Given the description of an element on the screen output the (x, y) to click on. 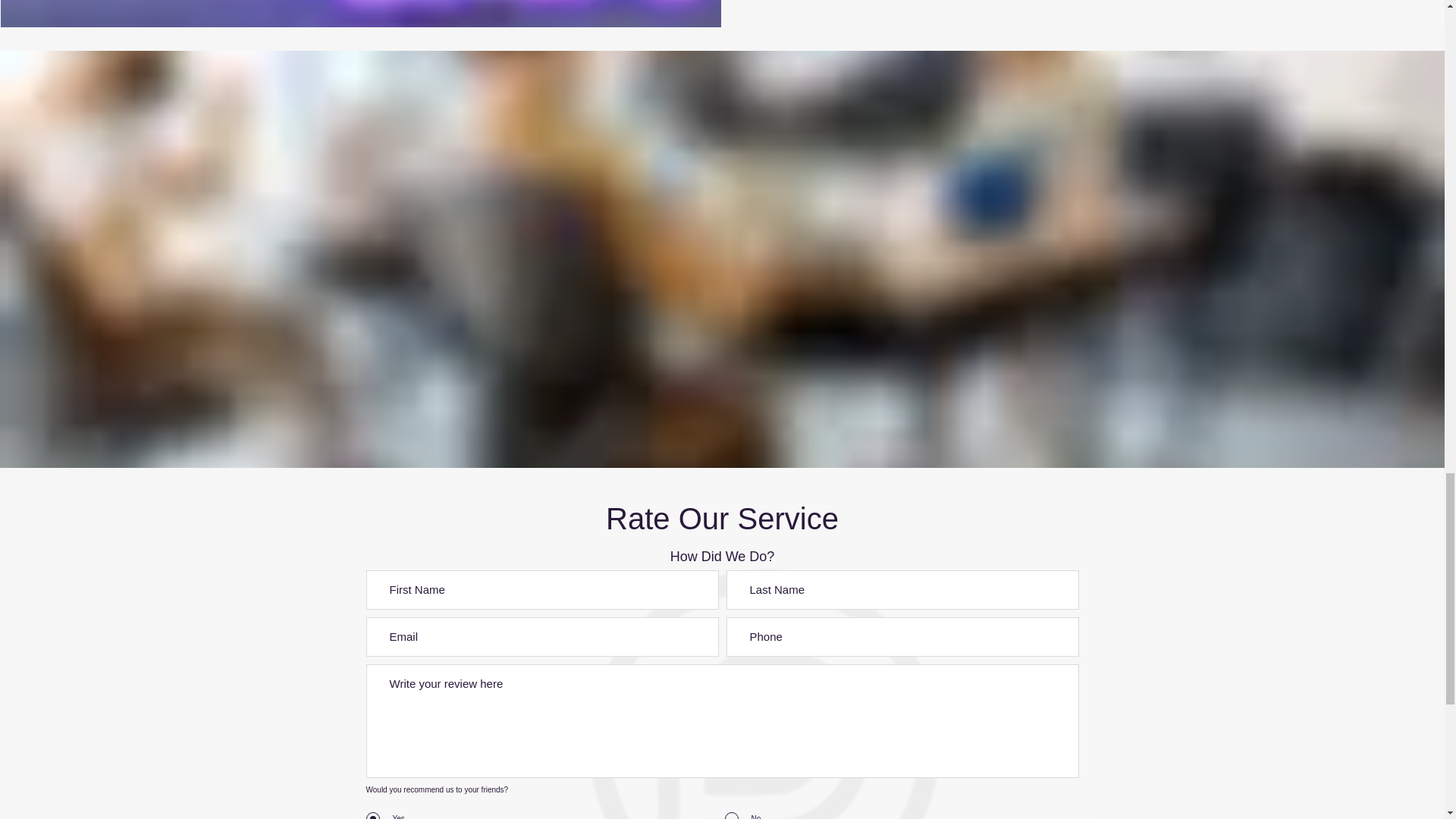
Contact Us (1005, 4)
